Given the description of an element on the screen output the (x, y) to click on. 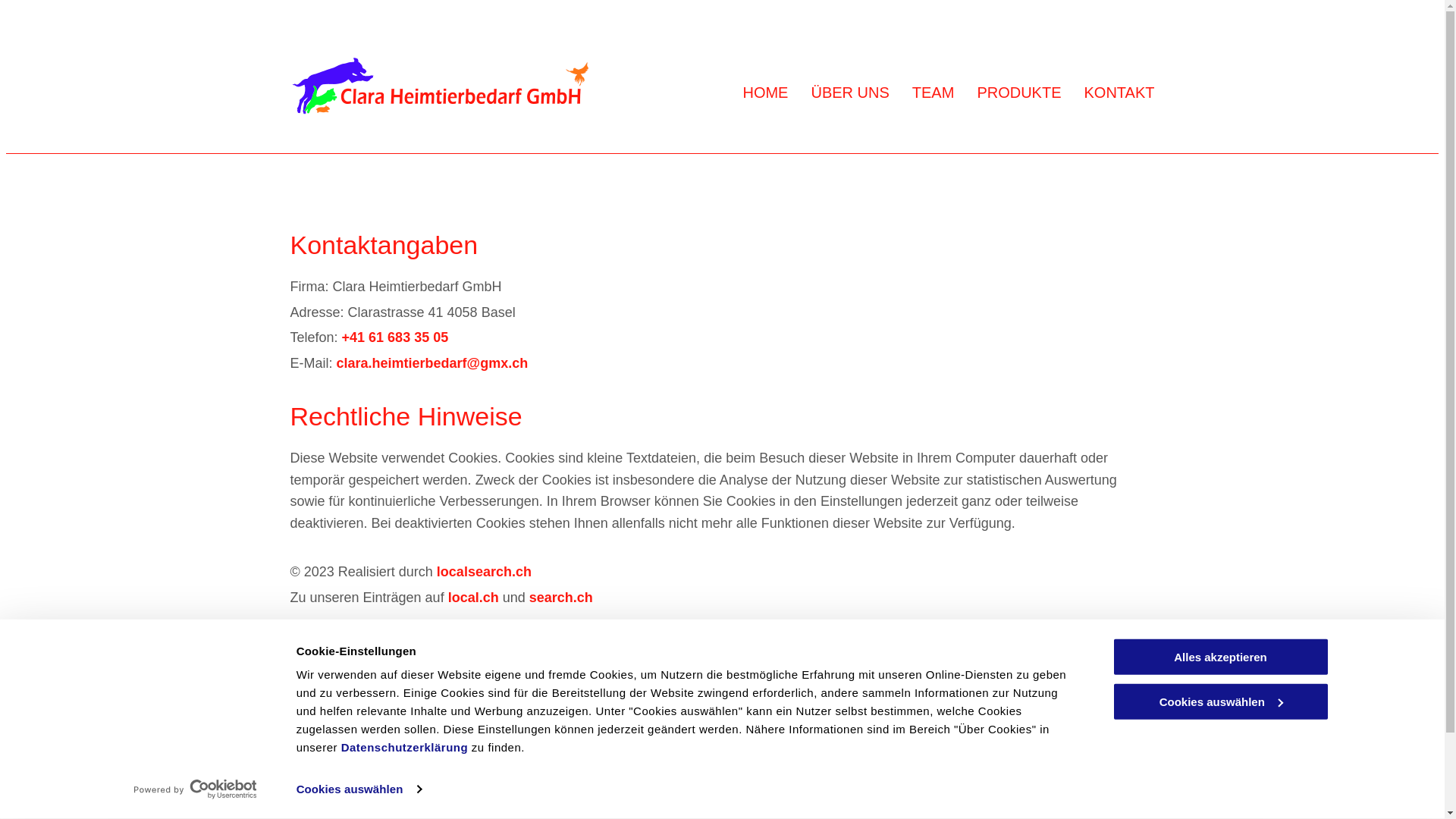
local.ch Element type: text (473, 597)
Facebook Element type: hover (1139, 807)
search.ch Element type: text (561, 597)
Alles akzeptieren Element type: text (1219, 656)
clara.heimtierbedarf@gmx.ch Element type: text (432, 362)
localsearch.ch Element type: text (483, 571)
Impressum Element type: text (762, 748)
TEAM Element type: text (933, 93)
+41 61 683 35 05 Element type: text (541, 748)
KONTAKT Element type: text (1118, 93)
+41 61 683 35 05 Element type: text (395, 337)
PRODUKTE Element type: text (1018, 93)
HOME Element type: text (765, 93)
